Given the description of an element on the screen output the (x, y) to click on. 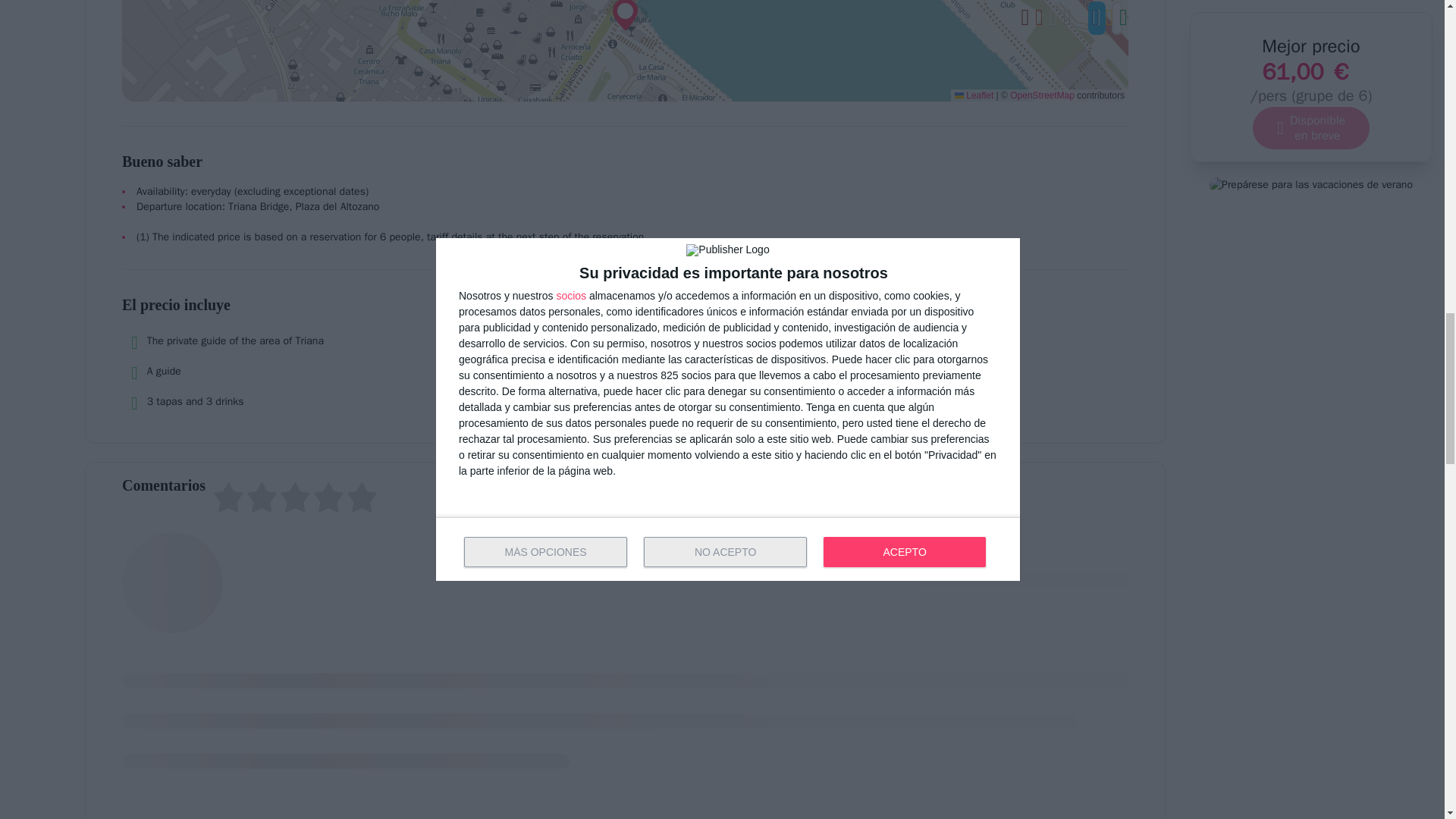
A JavaScript library for interactive maps (973, 95)
